Given the description of an element on the screen output the (x, y) to click on. 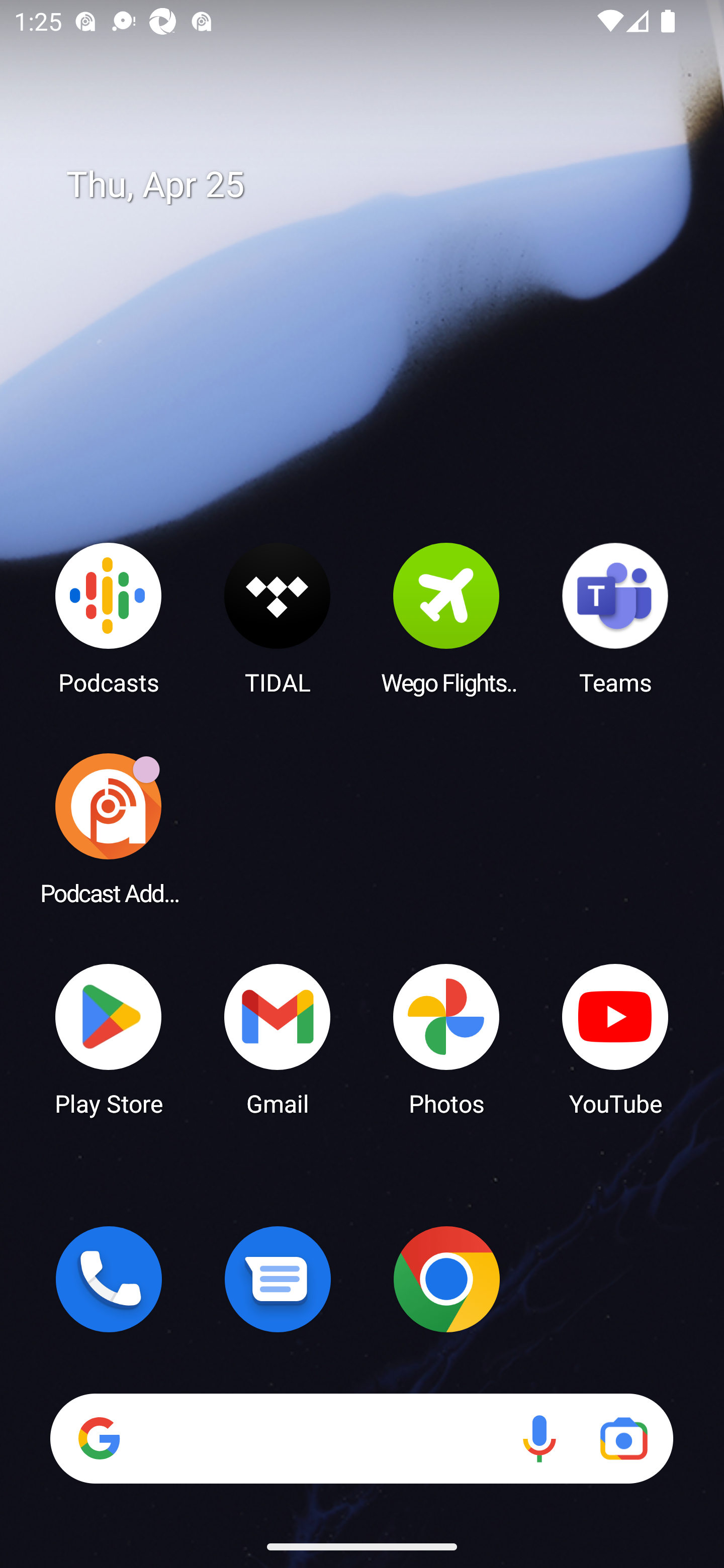
Thu, Apr 25 (375, 184)
Podcasts (108, 617)
TIDAL (277, 617)
Wego Flights & Hotels (445, 617)
Teams (615, 617)
Play Store (108, 1038)
Gmail (277, 1038)
Photos (445, 1038)
YouTube (615, 1038)
Phone (108, 1279)
Messages (277, 1279)
Chrome (446, 1279)
Search Voice search Google Lens (361, 1438)
Voice search (539, 1438)
Google Lens (623, 1438)
